Given the description of an element on the screen output the (x, y) to click on. 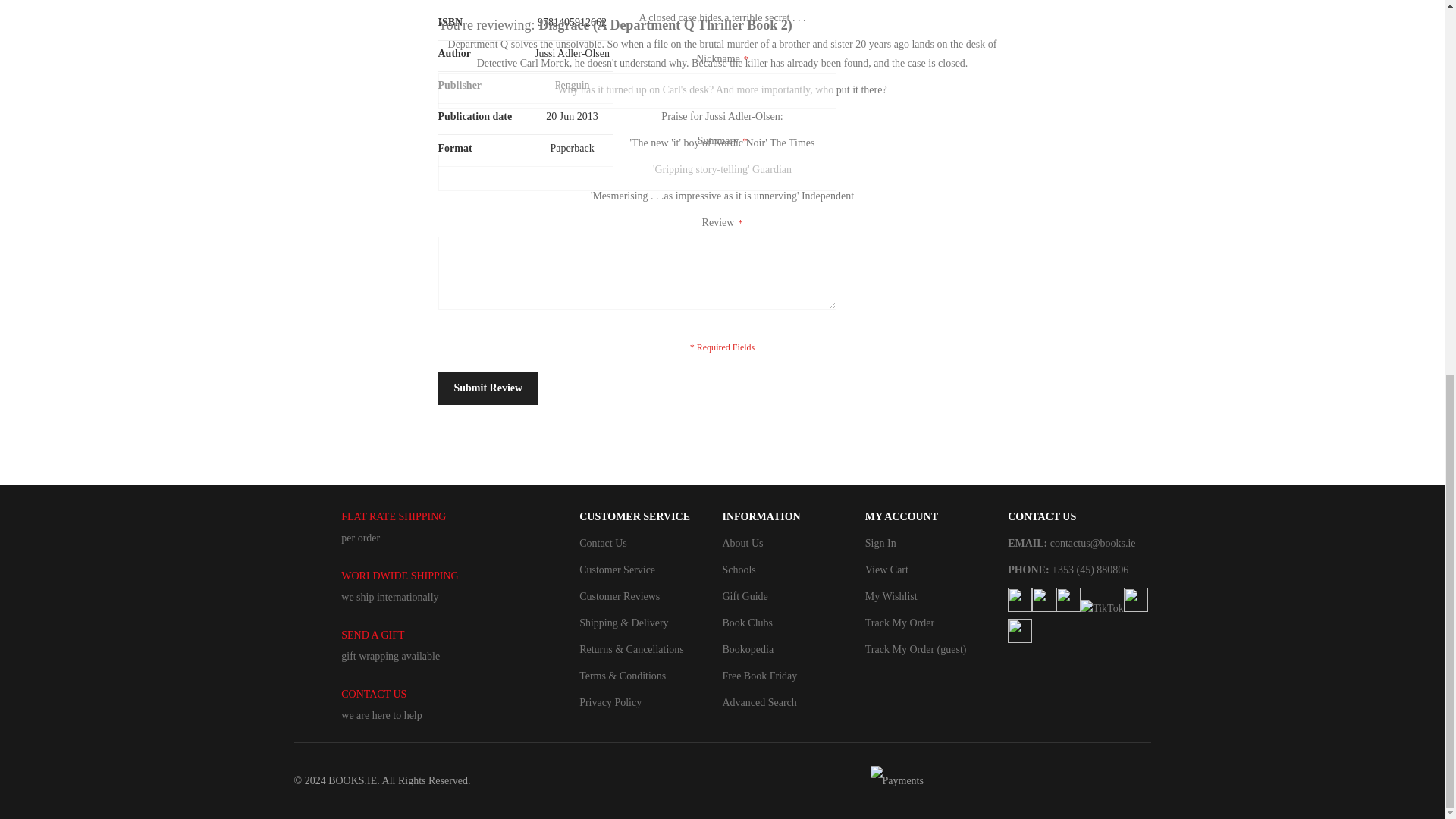
TikTok (1102, 608)
